Given the description of an element on the screen output the (x, y) to click on. 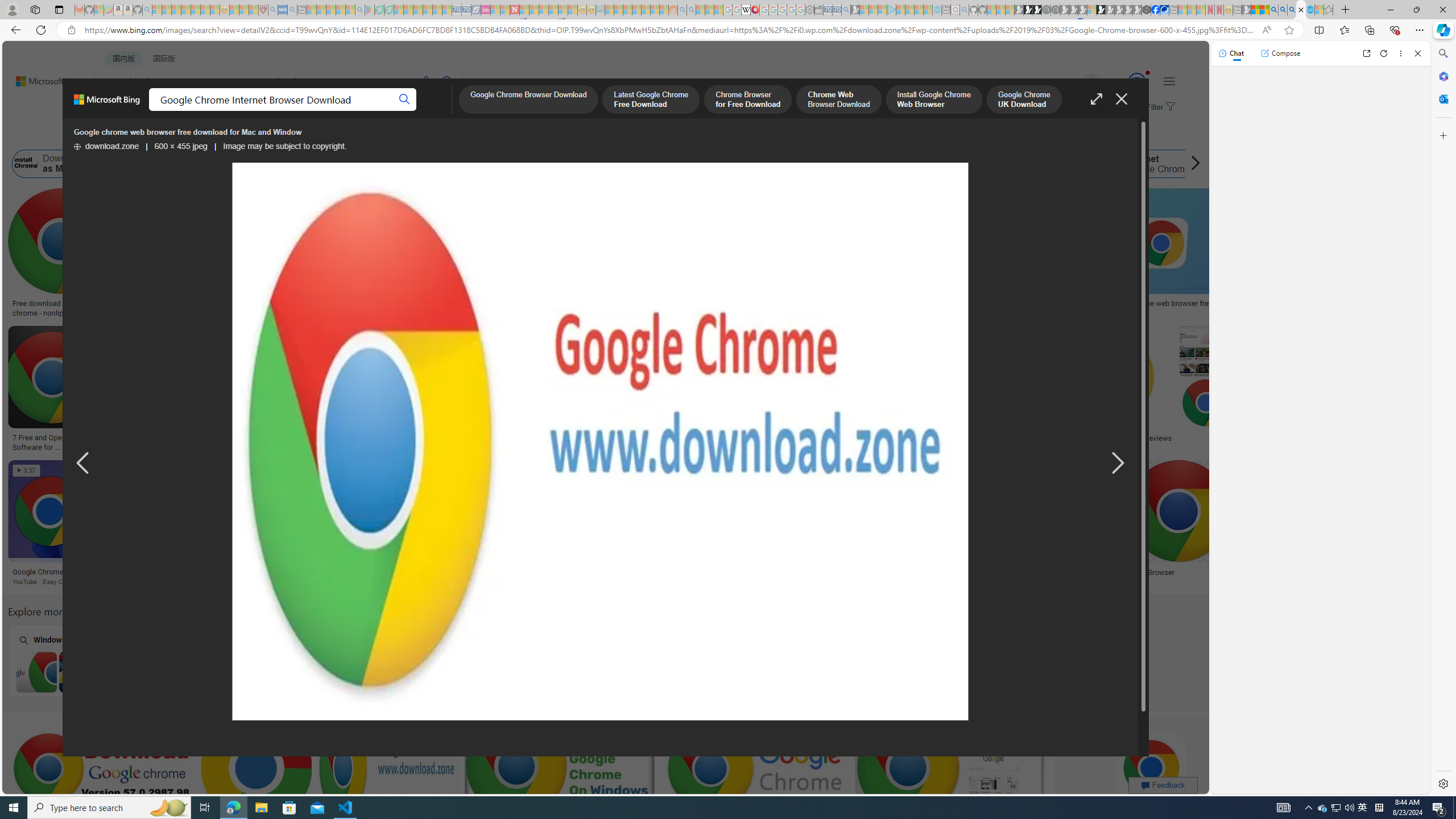
Google Chrome Fast Download (997, 163)
Color (173, 135)
Google Chrome Internet Browser Download - Search Images (1300, 9)
3:37 (26, 470)
Google Chrome Review | Top Ten ReviewsSave (1132, 390)
Google Chrome Web Browser Free Download (308, 163)
Download Google Chrome As My Web Browser (281, 571)
Internet Google Chrome (1108, 163)
